Given the description of an element on the screen output the (x, y) to click on. 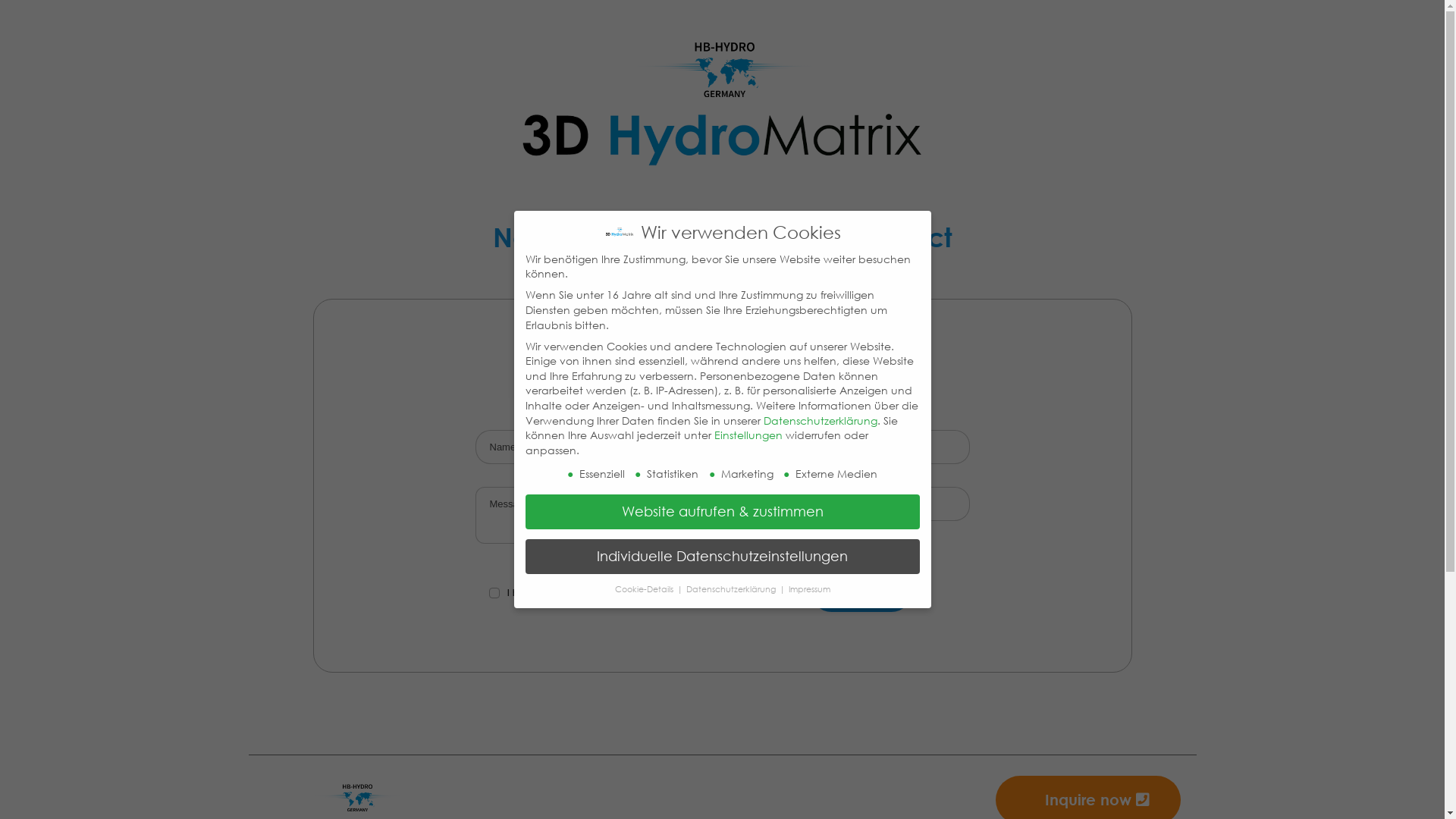
Submit Element type: text (861, 590)
Individuelle Datenschutzeinstellungen Element type: text (721, 556)
Website aufrufen & zustimmen Element type: text (721, 511)
Logo mit HB Hydro Element type: hover (721, 103)
Einstellungen Element type: text (748, 434)
Impressum Element type: text (809, 589)
Cookie-Details Element type: text (644, 589)
privacy policy. Element type: text (677, 592)
